Given the description of an element on the screen output the (x, y) to click on. 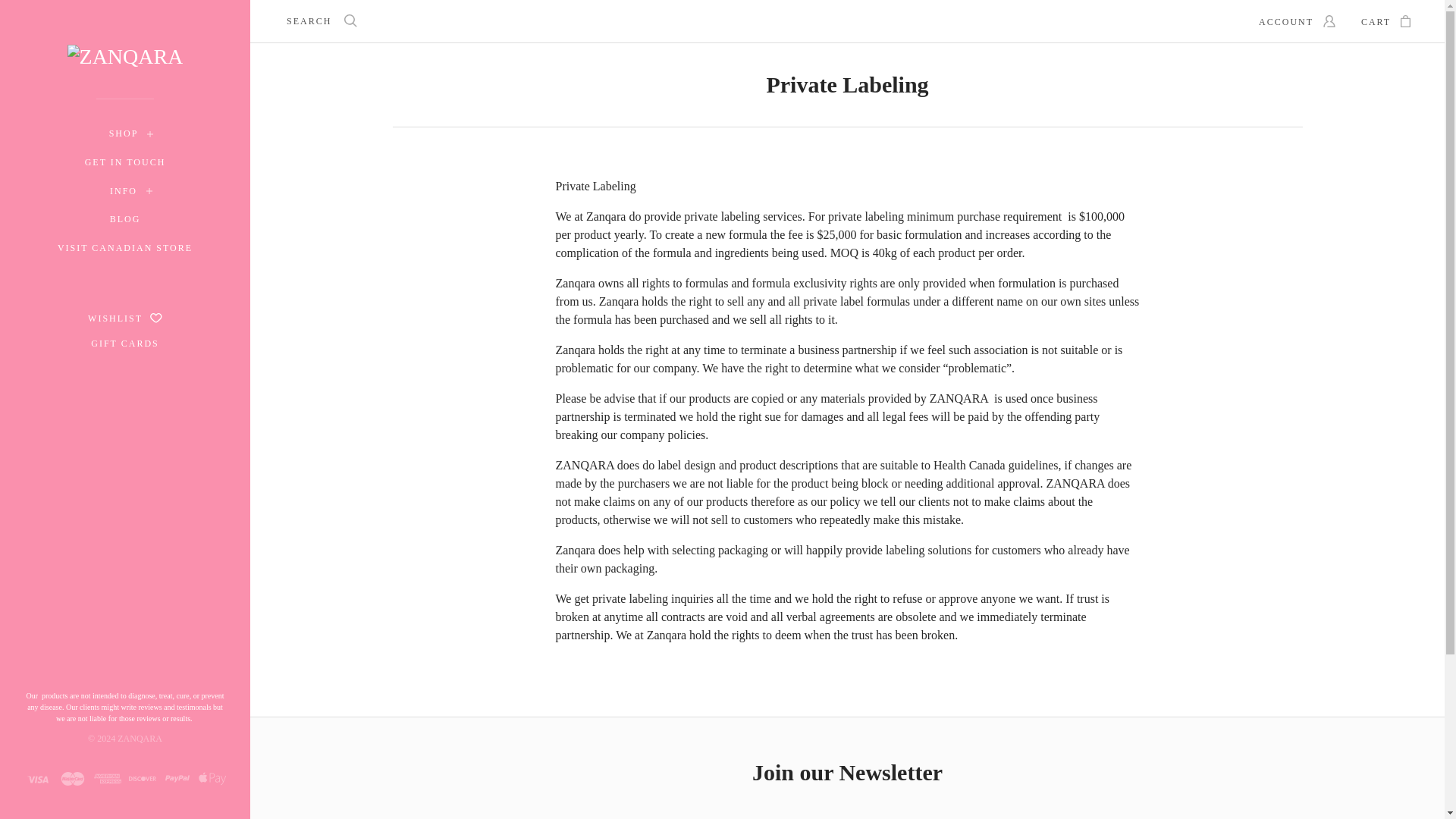
SHOP (123, 134)
